Given the description of an element on the screen output the (x, y) to click on. 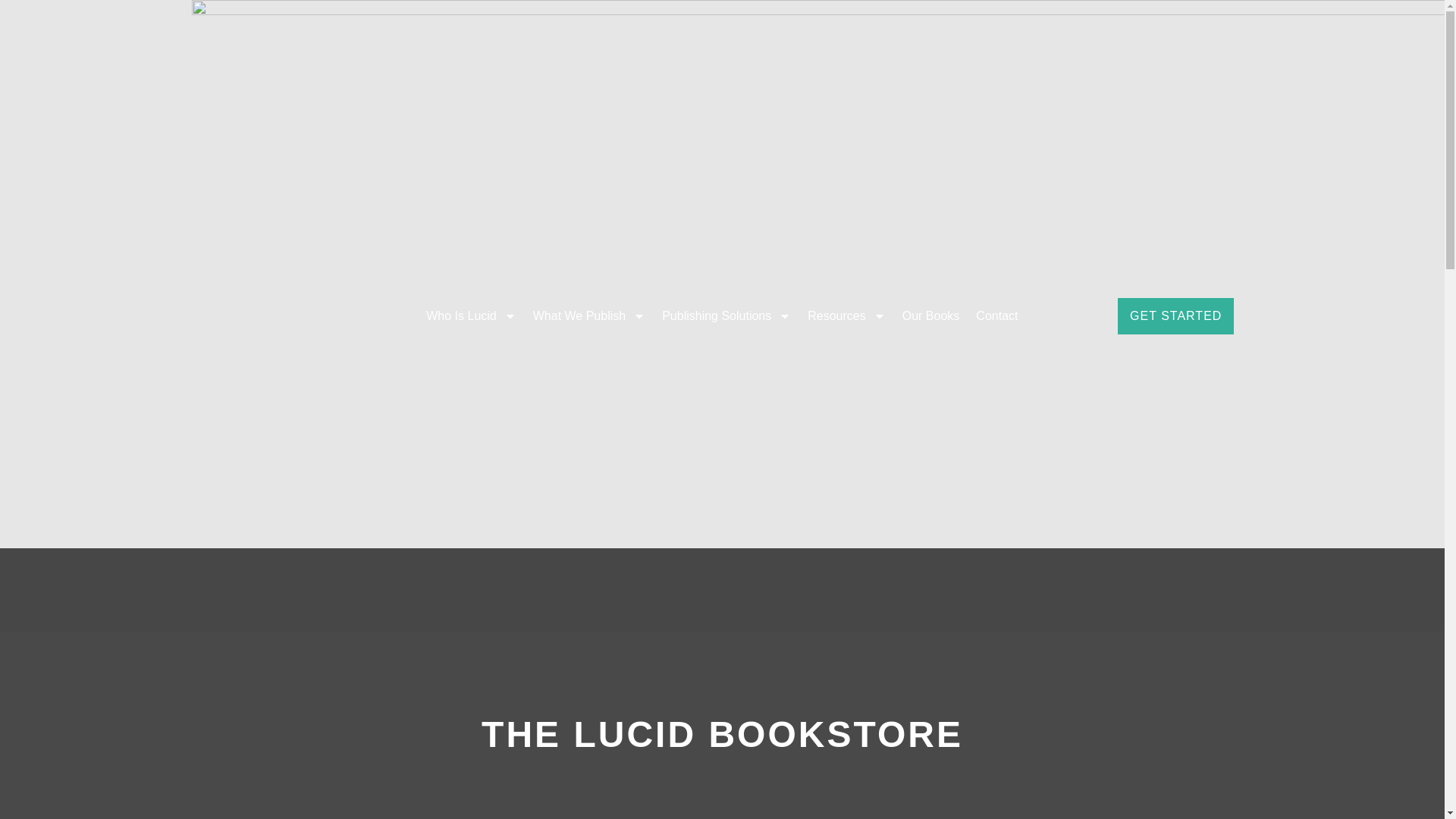
Who Is Lucid (470, 315)
Publishing Solutions (726, 315)
Resources (846, 315)
Our Books (930, 315)
What We Publish (588, 315)
Contact (997, 315)
